Given the description of an element on the screen output the (x, y) to click on. 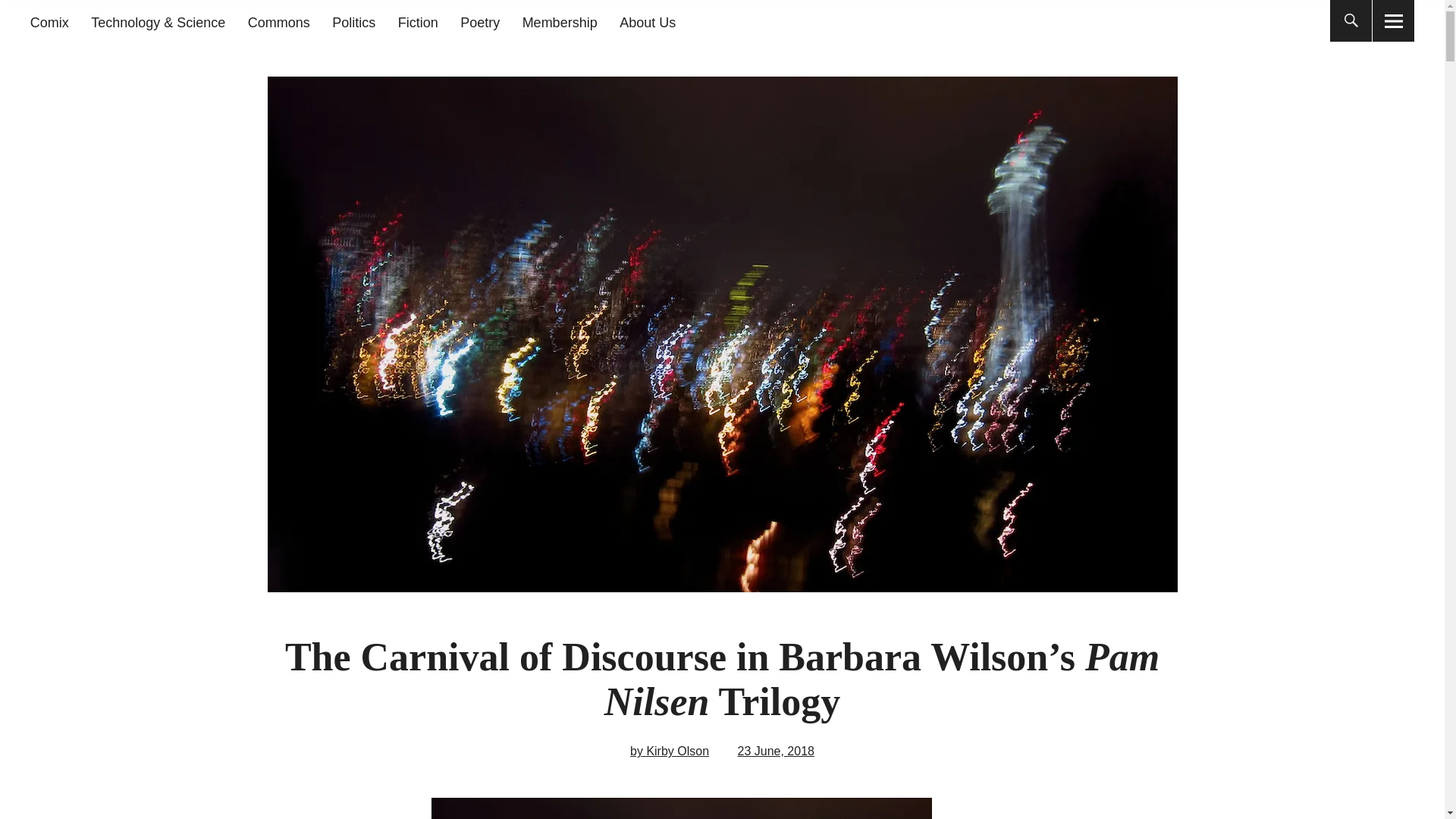
Fiction (417, 22)
Commons (278, 22)
Comix (49, 22)
by Kirby Olson (669, 750)
Search (692, 19)
23 June, 2018 (775, 750)
About Us (647, 22)
Membership (559, 22)
Politics (353, 22)
Poetry (479, 22)
